Given the description of an element on the screen output the (x, y) to click on. 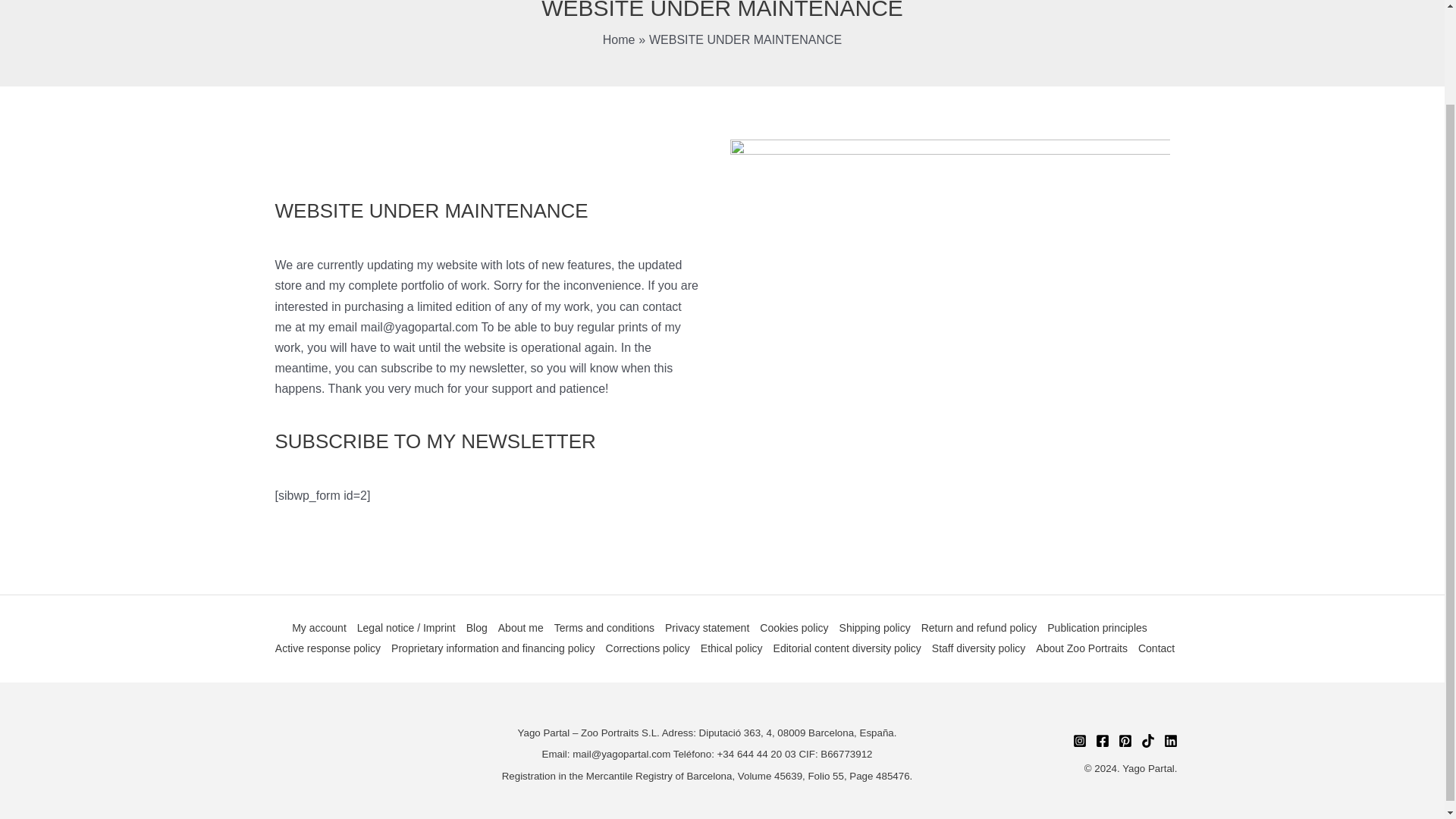
Proprietary information and financing policy (492, 648)
Return and refund policy (978, 628)
Terms and conditions (603, 628)
Staff diversity policy (978, 648)
About me (520, 628)
Home (618, 39)
Editorial content diversity policy (847, 648)
Ethical policy (731, 648)
Cookies policy (793, 628)
